Given the description of an element on the screen output the (x, y) to click on. 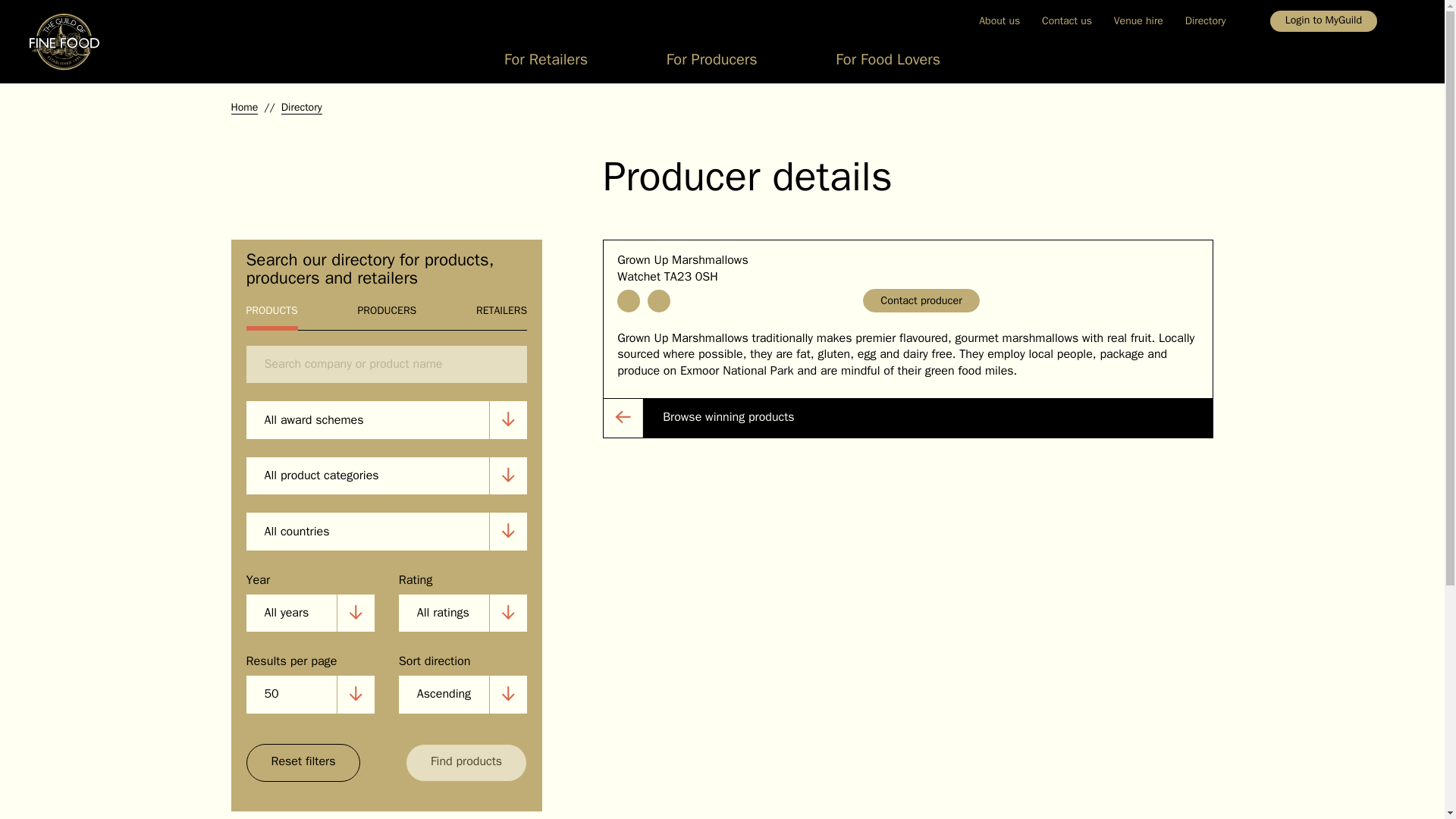
Contact us (1066, 20)
For Retailers (545, 63)
About us (999, 20)
Venue hire (1137, 20)
For Producers (711, 63)
Venue hire (1137, 20)
About us (999, 20)
Directory (1204, 20)
Contact us (1066, 20)
Directory (1204, 20)
